Given the description of an element on the screen output the (x, y) to click on. 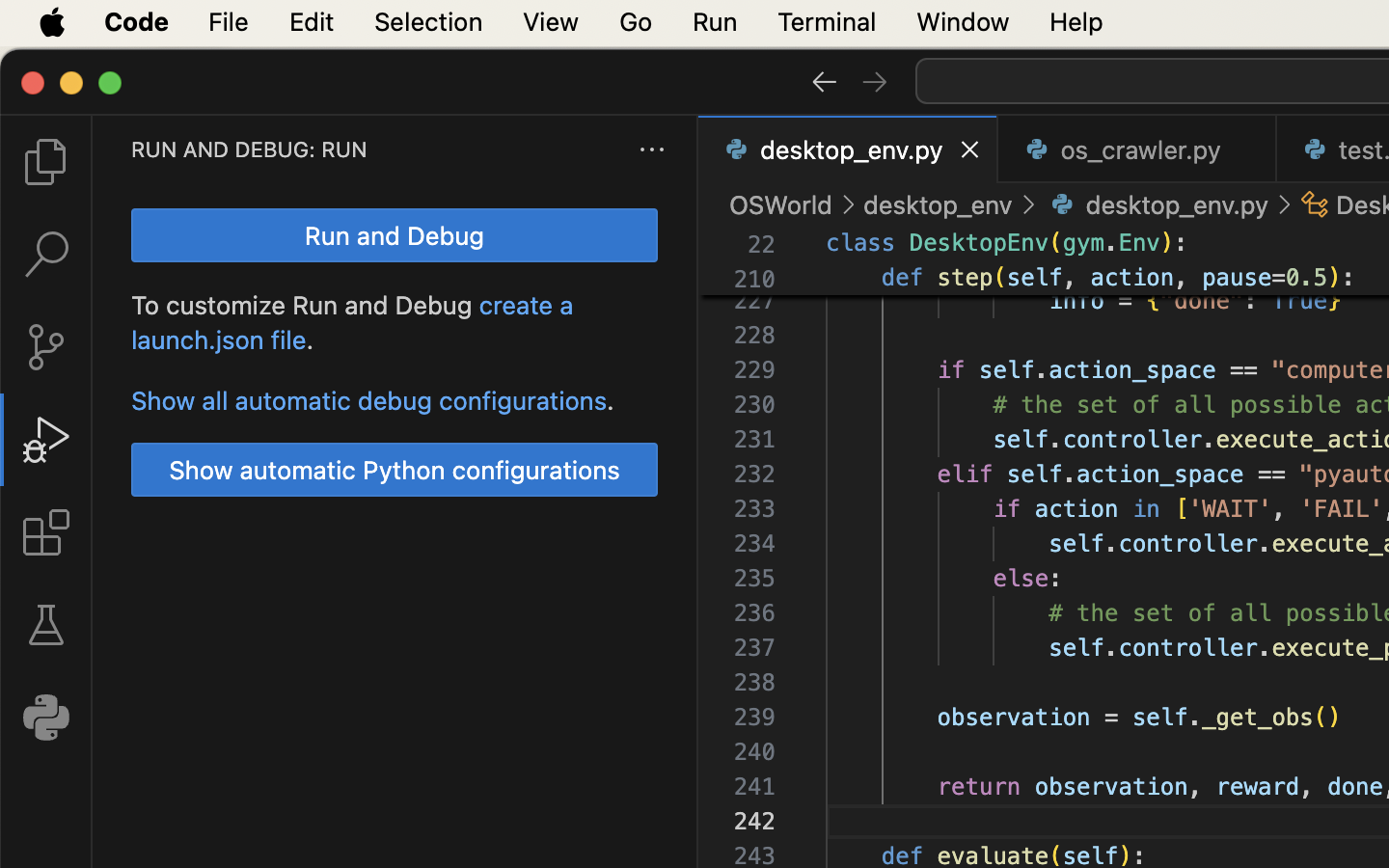
 Element type: AXGroup (46, 161)
 Element type: AXStaticText (1315, 204)
1  Element type: AXRadioButton (46, 439)
0  Element type: AXRadioButton (46, 254)
Env Element type: AXStaticText (1139, 242)
